Given the description of an element on the screen output the (x, y) to click on. 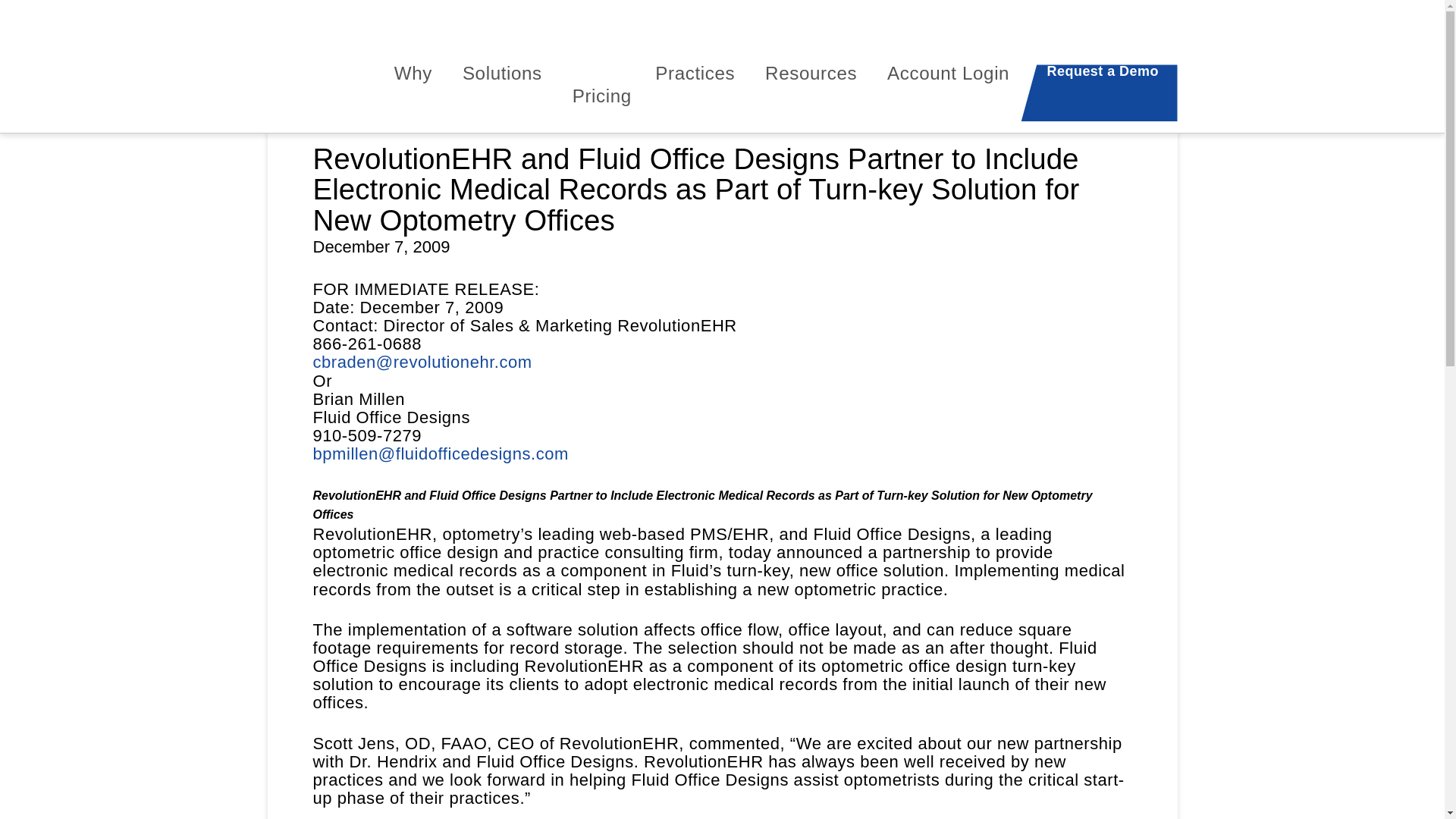
Solutions (504, 98)
Why (415, 98)
Resources (813, 98)
Pricing (601, 98)
Request a Demo (1099, 92)
Practices (697, 98)
Account Login (948, 98)
